Given the description of an element on the screen output the (x, y) to click on. 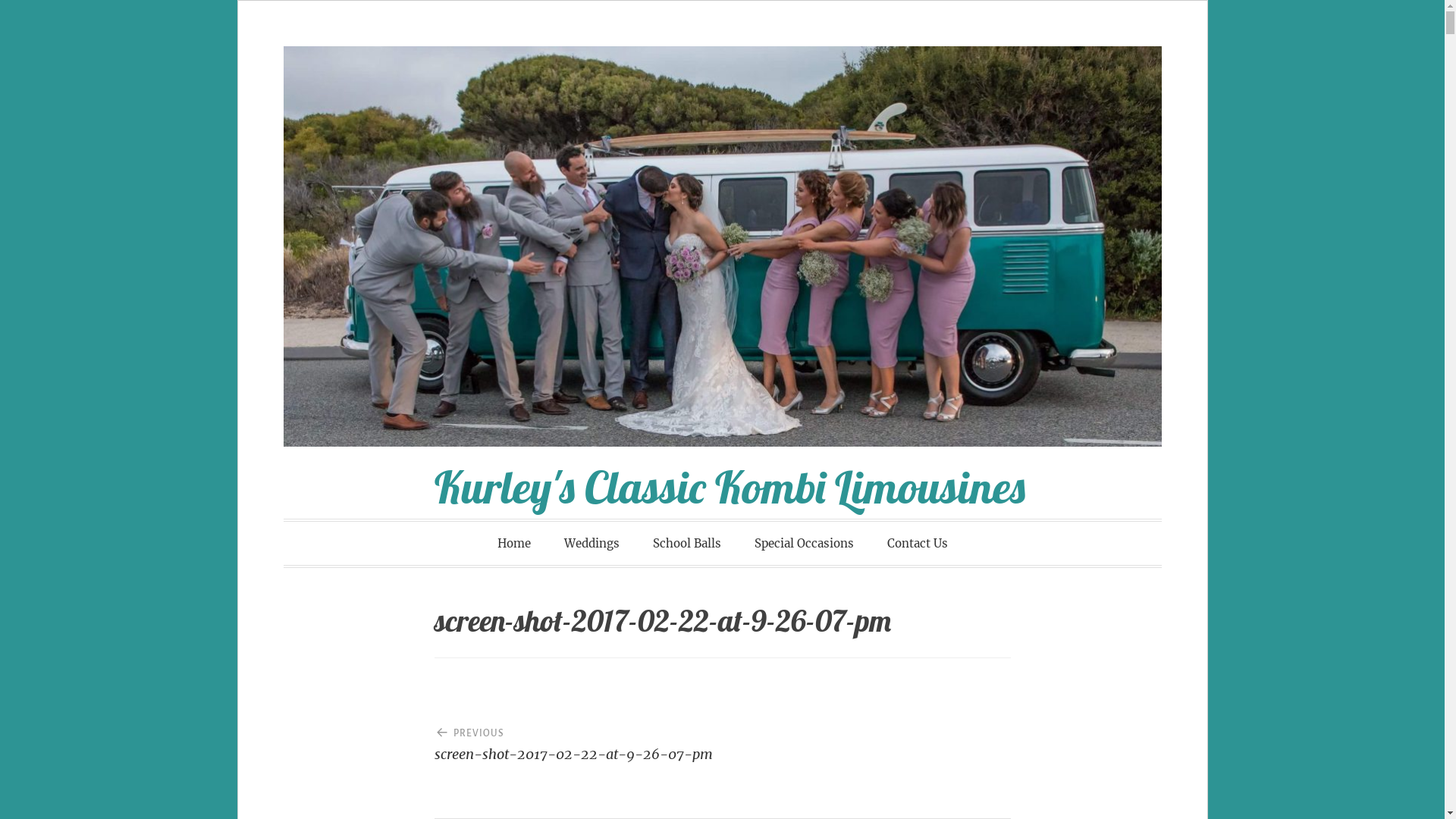
Skip to content Element type: text (238, 46)
Contact Us Element type: text (917, 543)
Weddings Element type: text (591, 543)
Kurley's Classic Kombi Limousines Element type: text (729, 486)
PREVIOUS
screen-shot-2017-02-22-at-9-26-07-pm Element type: text (577, 737)
School Balls Element type: text (686, 543)
Home Element type: text (514, 543)
Special Occasions Element type: text (803, 543)
